Given the description of an element on the screen output the (x, y) to click on. 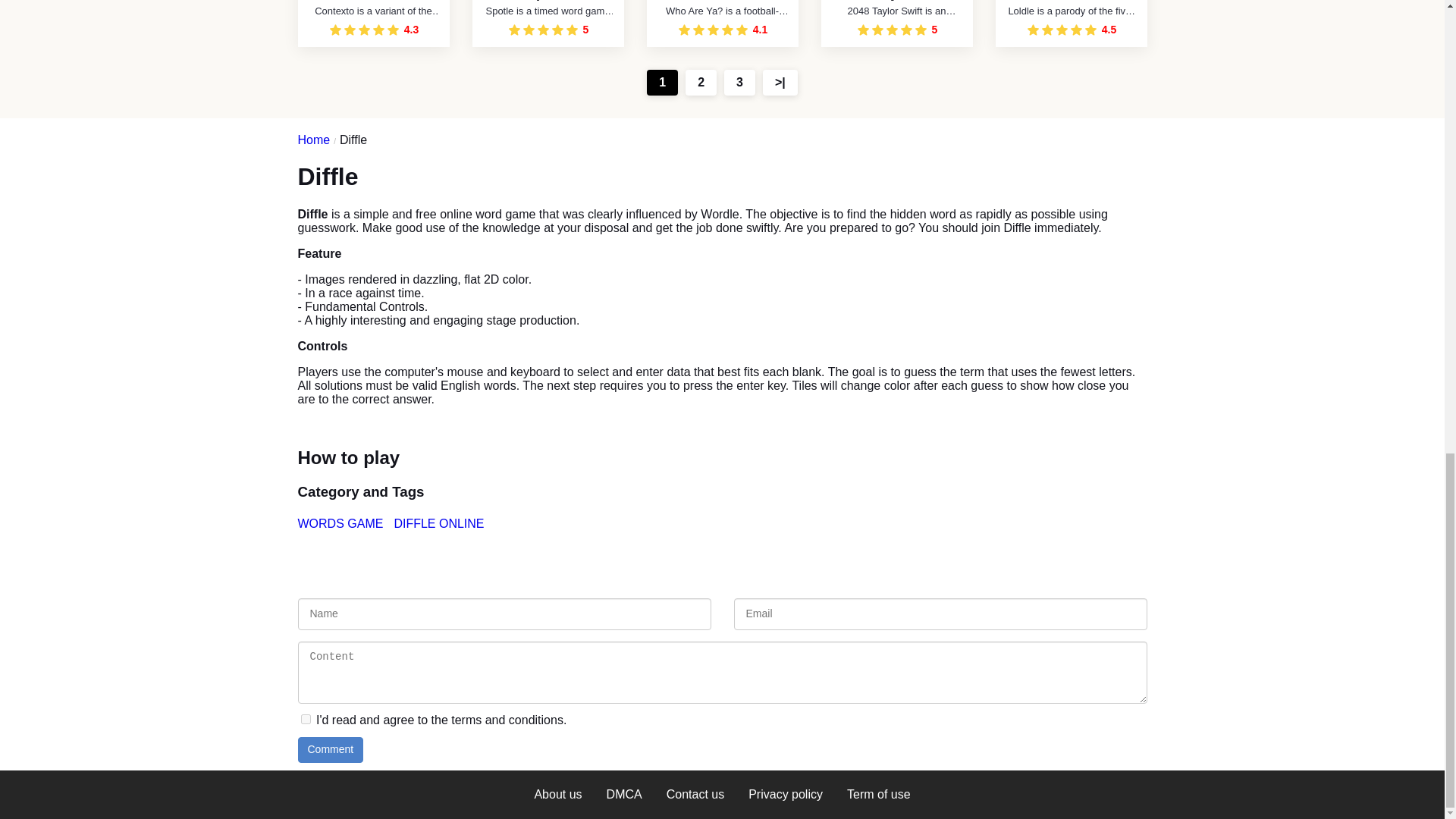
About us (557, 794)
Term of use (878, 794)
DMCA (623, 794)
Home (318, 140)
Contact us (694, 794)
DIFFLE ONLINE (439, 523)
Privacy policy (785, 794)
WORDS GAME (341, 523)
on (304, 718)
Comment (329, 749)
Comment (329, 749)
